Given the description of an element on the screen output the (x, y) to click on. 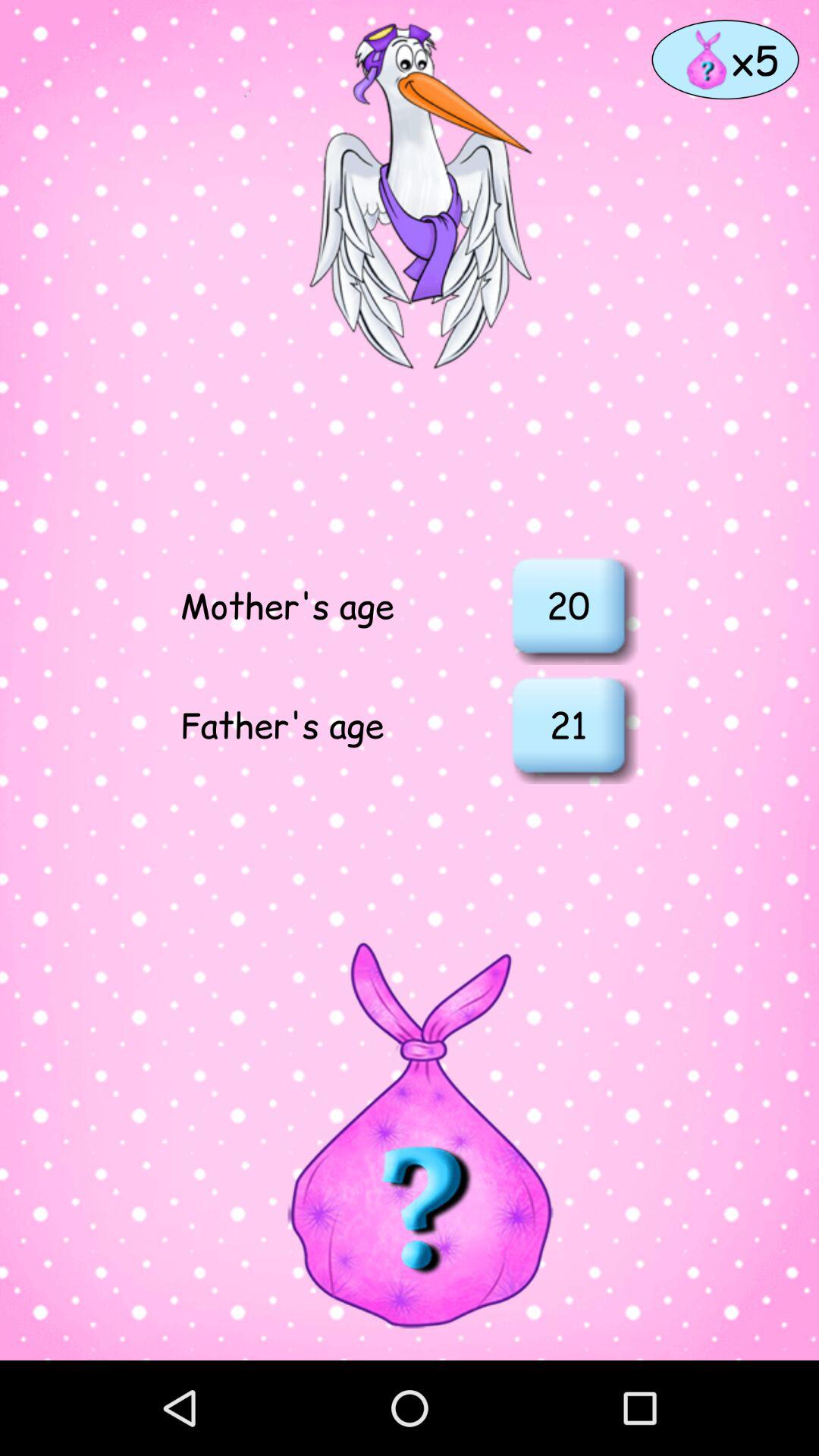
turn on the item next to father's age (568, 724)
